Given the description of an element on the screen output the (x, y) to click on. 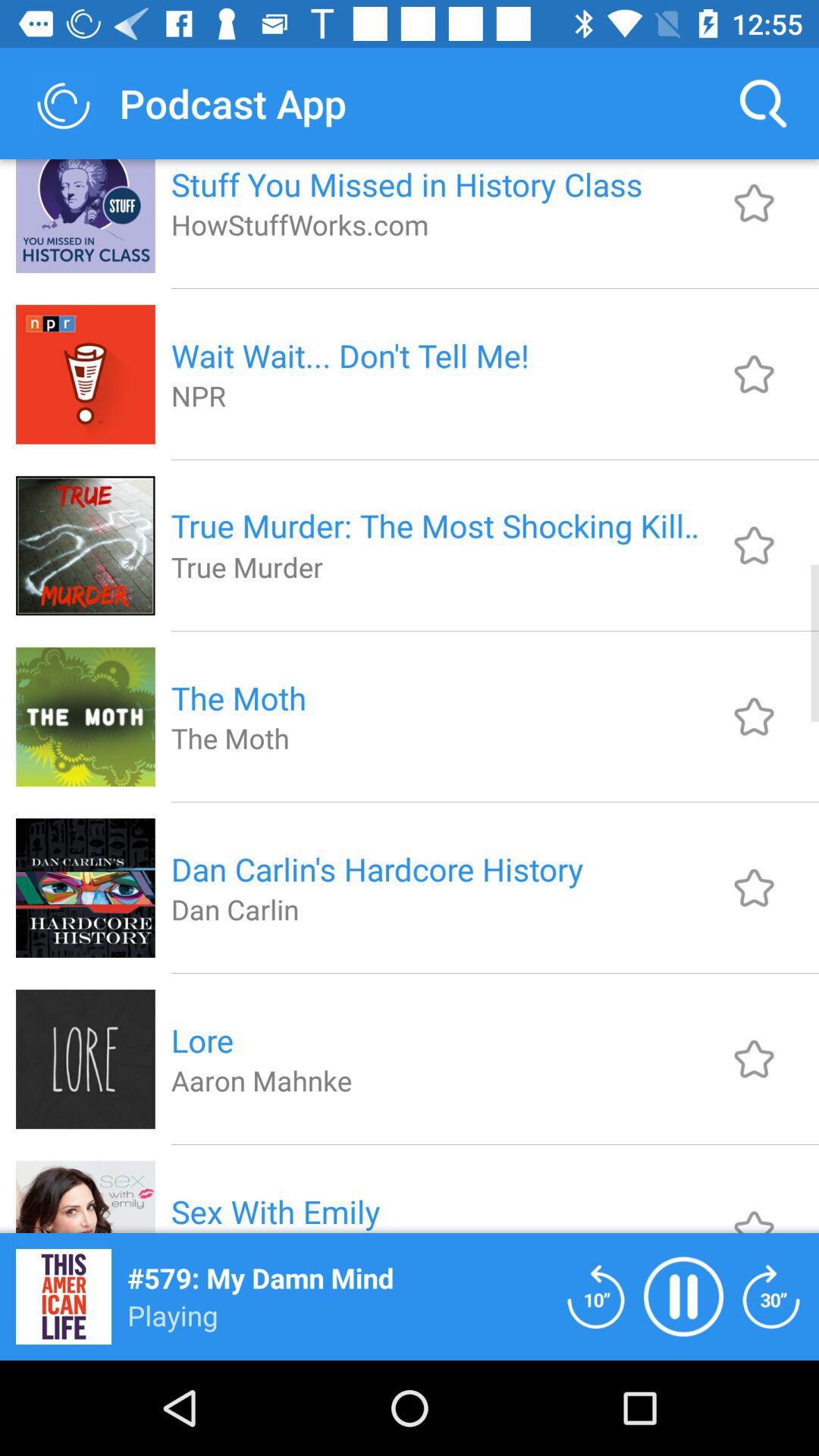
podcast app (595, 1296)
